Given the description of an element on the screen output the (x, y) to click on. 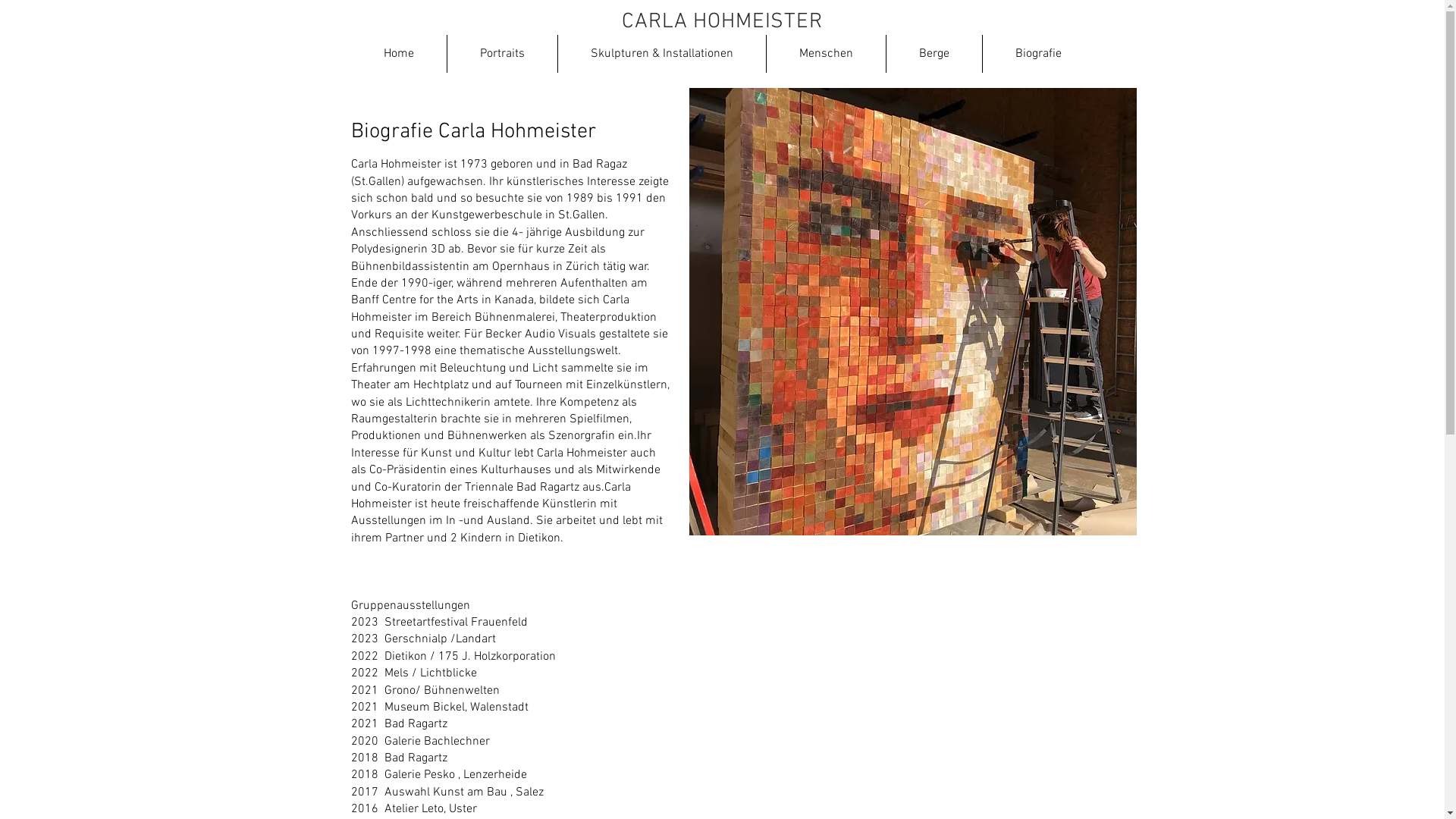
Museum Bickel, Walenstadt Element type: text (455, 707)
Mels / Lichtblicke Element type: text (429, 672)
Menschen Element type: text (825, 53)
Berge Element type: text (933, 53)
Bachlechner Element type: text (456, 741)
Biografie Element type: text (1037, 53)
Dietikon / 175 J. Holzkorporation Element type: text (469, 656)
Bad Ragartz Element type: text (414, 723)
Home Element type: text (397, 53)
Portraits Element type: text (500, 53)
Skulpturen & Installationen Element type: text (660, 53)
